Given the description of an element on the screen output the (x, y) to click on. 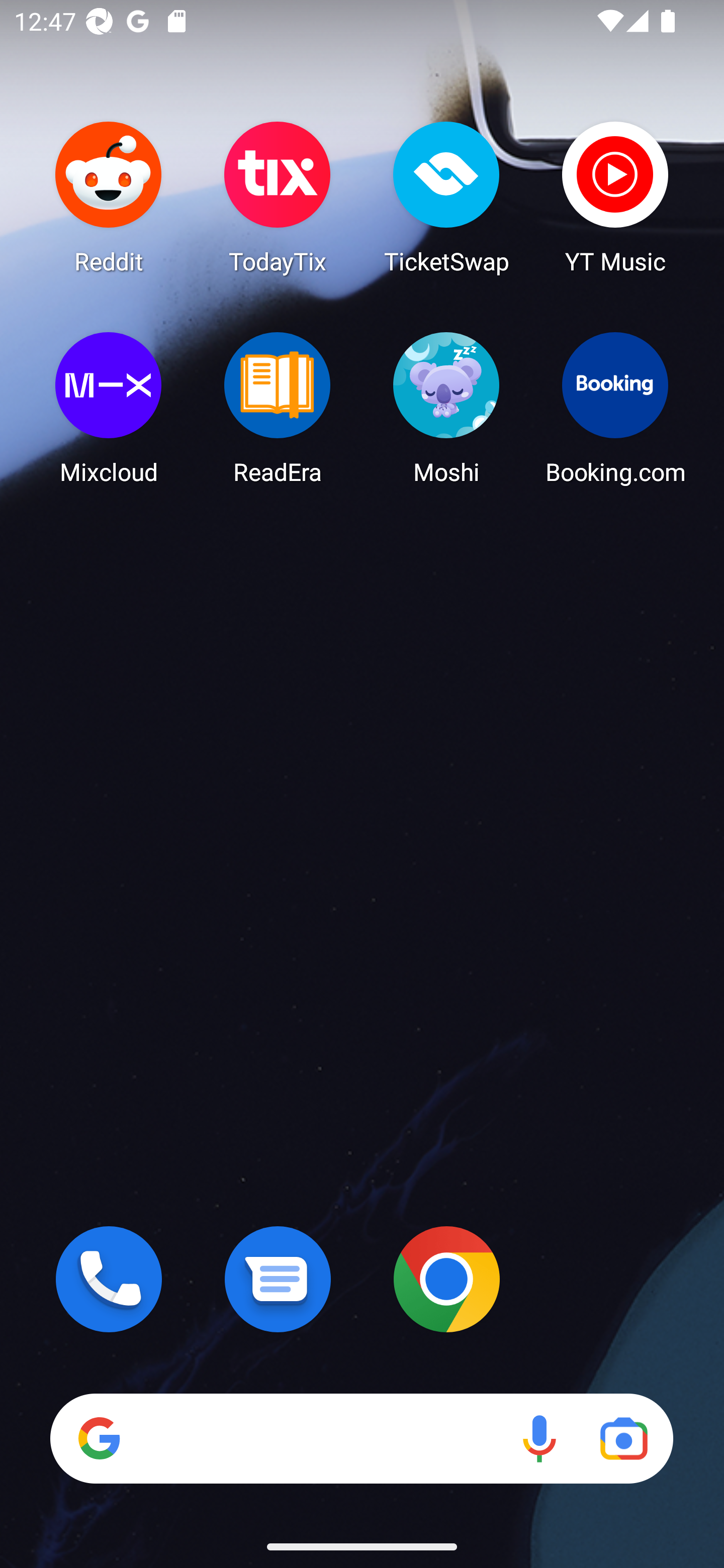
Reddit (108, 196)
TodayTix (277, 196)
TicketSwap (445, 196)
YT Music (615, 196)
Mixcloud (108, 407)
ReadEra (277, 407)
Moshi (445, 407)
Booking.com (615, 407)
Phone (108, 1279)
Messages (277, 1279)
Chrome (446, 1279)
Search Voice search Google Lens (361, 1438)
Voice search (539, 1438)
Google Lens (623, 1438)
